Given the description of an element on the screen output the (x, y) to click on. 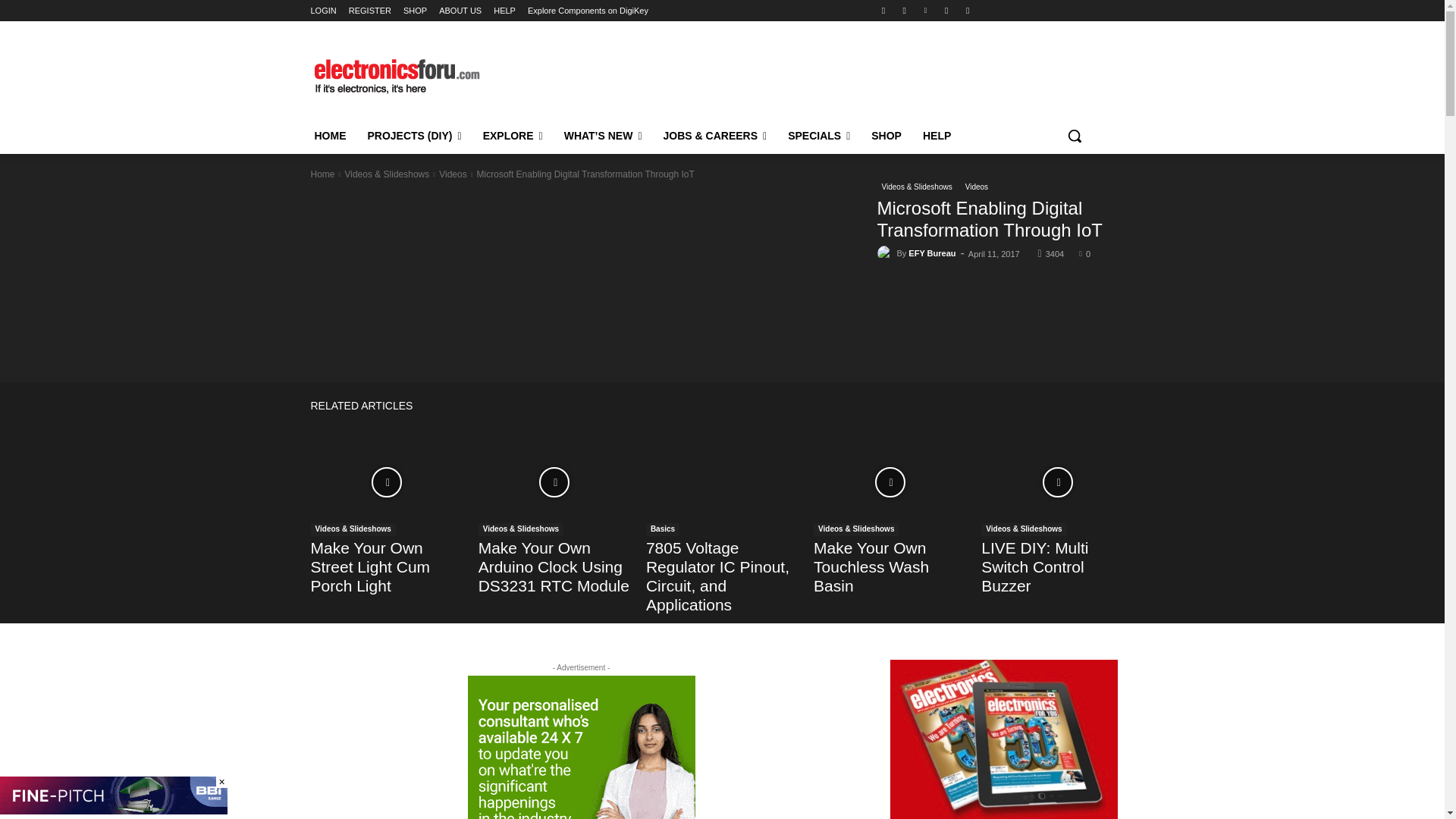
Youtube (967, 9)
Instagram (903, 9)
Linkedin (925, 9)
Facebook (883, 9)
View all posts in Videos (452, 173)
Twitter (946, 9)
